Given the description of an element on the screen output the (x, y) to click on. 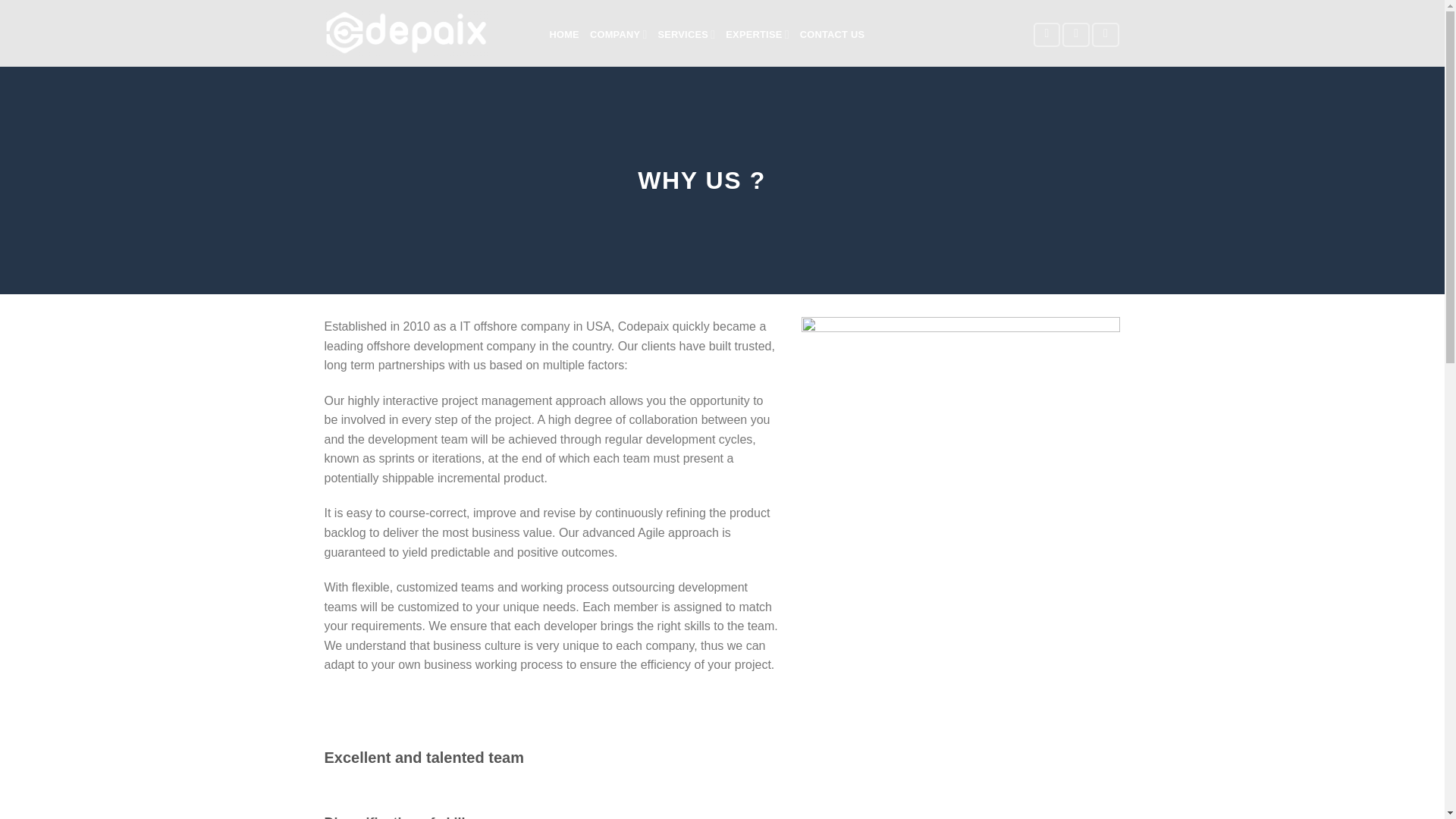
COMPANY (618, 34)
HOME (563, 34)
Follow on LinkedIn (1105, 34)
Follow on Twitter (1075, 34)
SERVICES (686, 34)
EXPERTISE (757, 34)
CONTACT US (831, 34)
Follow on Facebook (1047, 34)
